Given the description of an element on the screen output the (x, y) to click on. 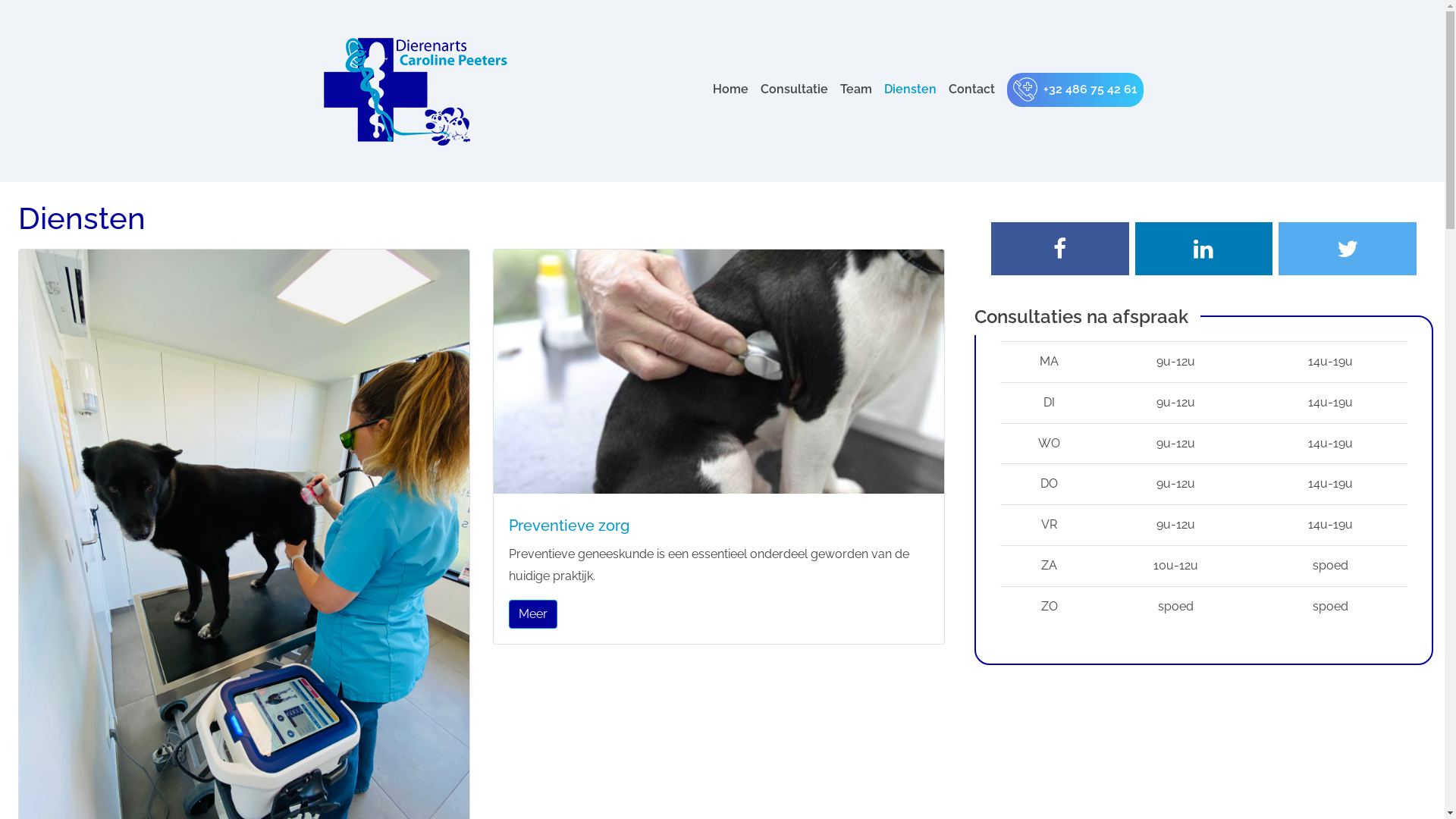
Meer Element type: text (532, 613)
Home Element type: text (730, 89)
+32 486 75 42 61 Element type: text (1075, 89)
Preventieve zorg Element type: text (718, 525)
Consultatie Element type: text (793, 89)
Team Element type: text (856, 89)
Contact Element type: text (970, 89)
Diensten Element type: text (910, 89)
